Given the description of an element on the screen output the (x, y) to click on. 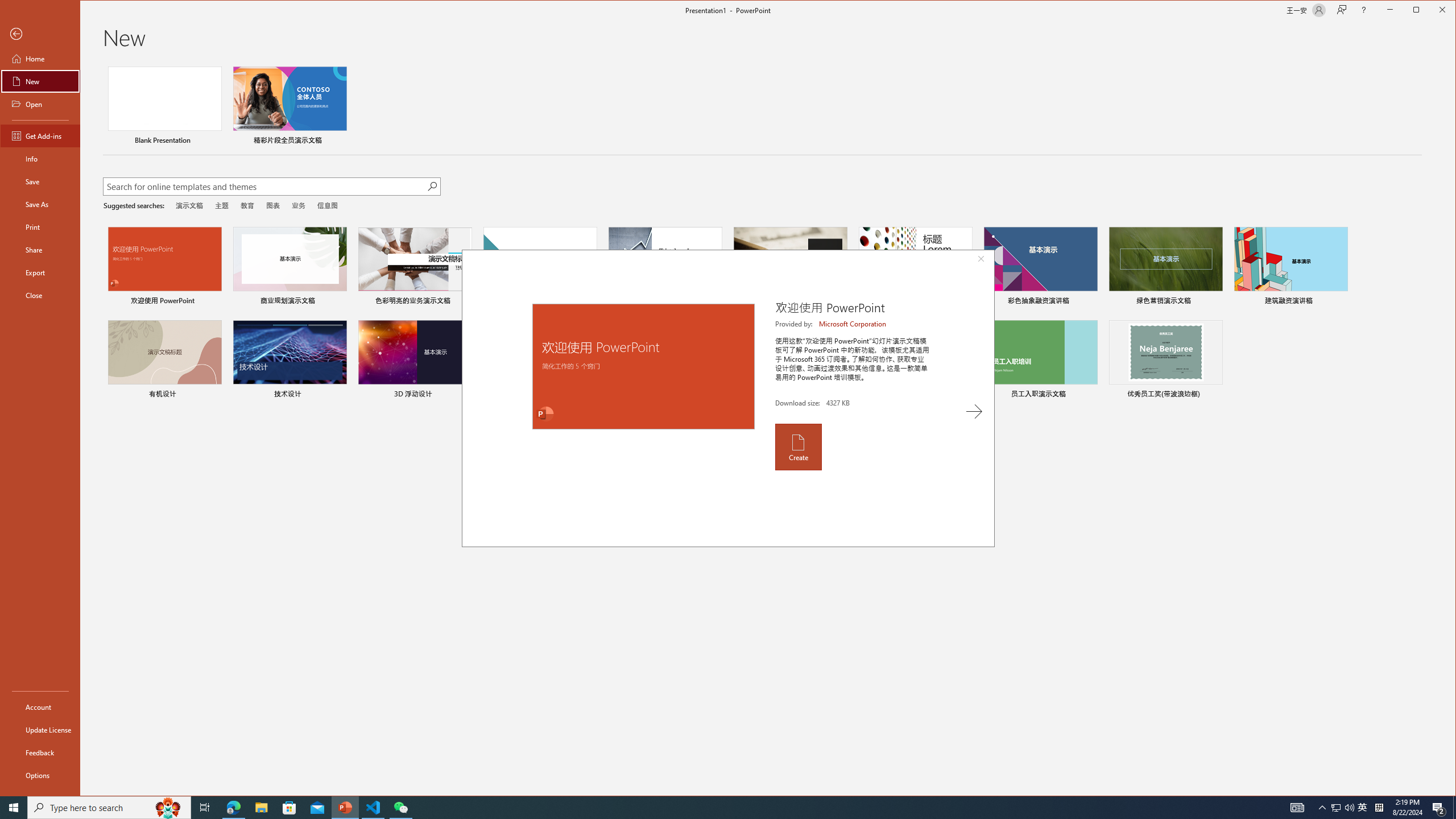
Q2790: 100% (1349, 807)
Action Center, 2 new notifications (1439, 807)
Account (40, 706)
